Given the description of an element on the screen output the (x, y) to click on. 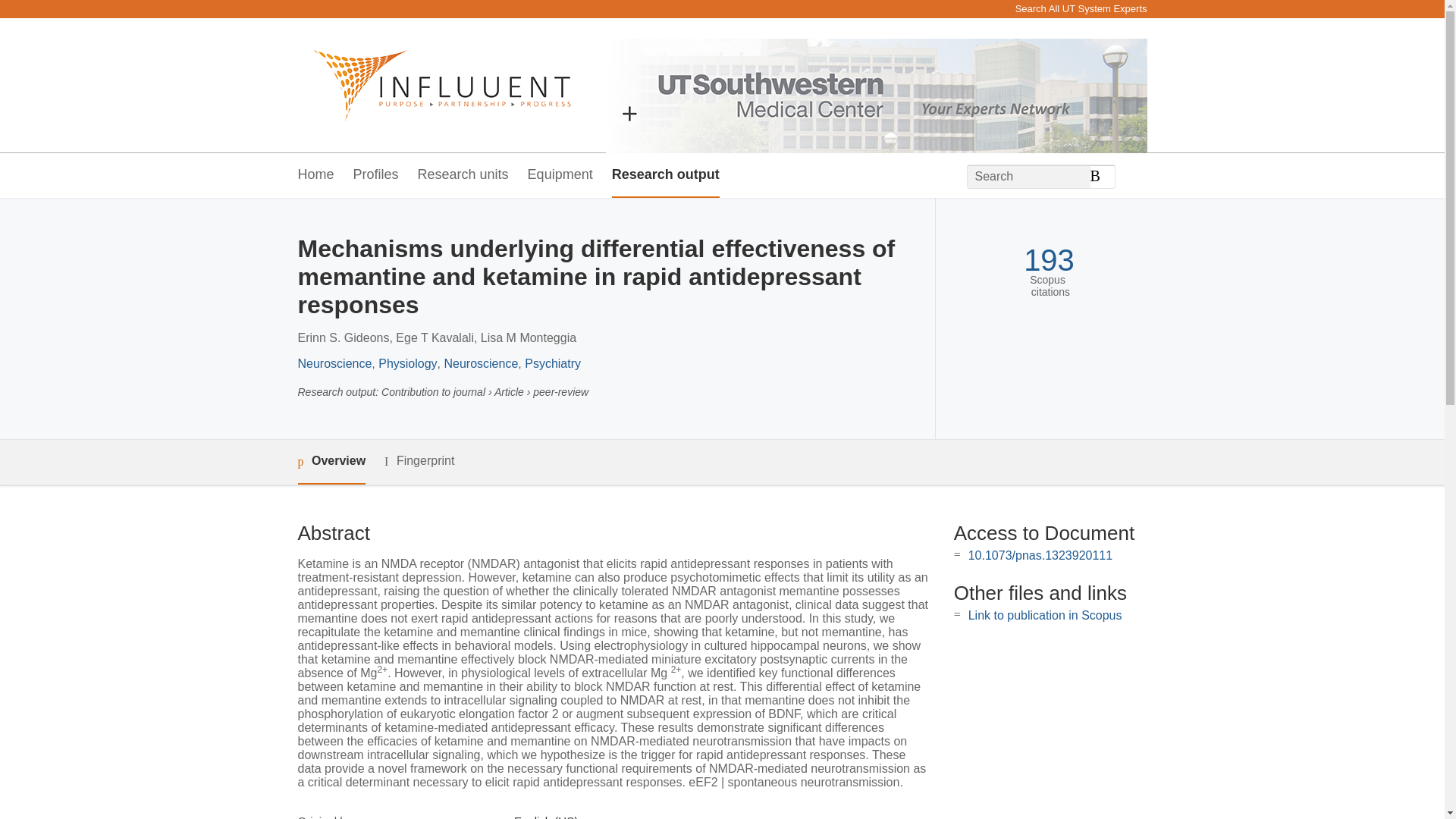
Fingerprint (419, 461)
Link to publication in Scopus (1045, 615)
Research output (665, 175)
Physiology (407, 363)
Overview (331, 461)
Profiles (375, 175)
Research units (462, 175)
Equipment (559, 175)
193 (1048, 260)
